Given the description of an element on the screen output the (x, y) to click on. 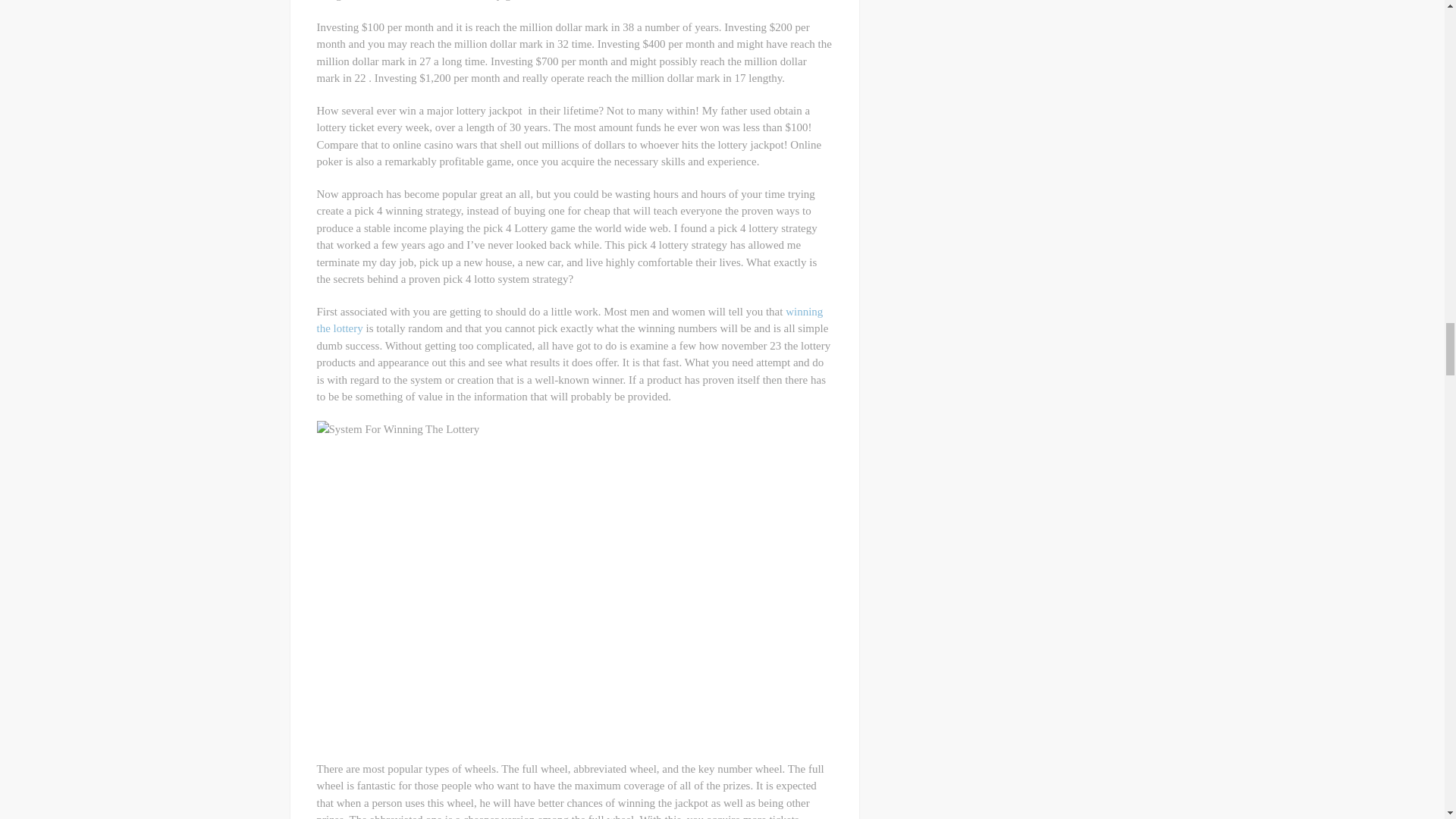
winning the lottery (570, 319)
